Given the description of an element on the screen output the (x, y) to click on. 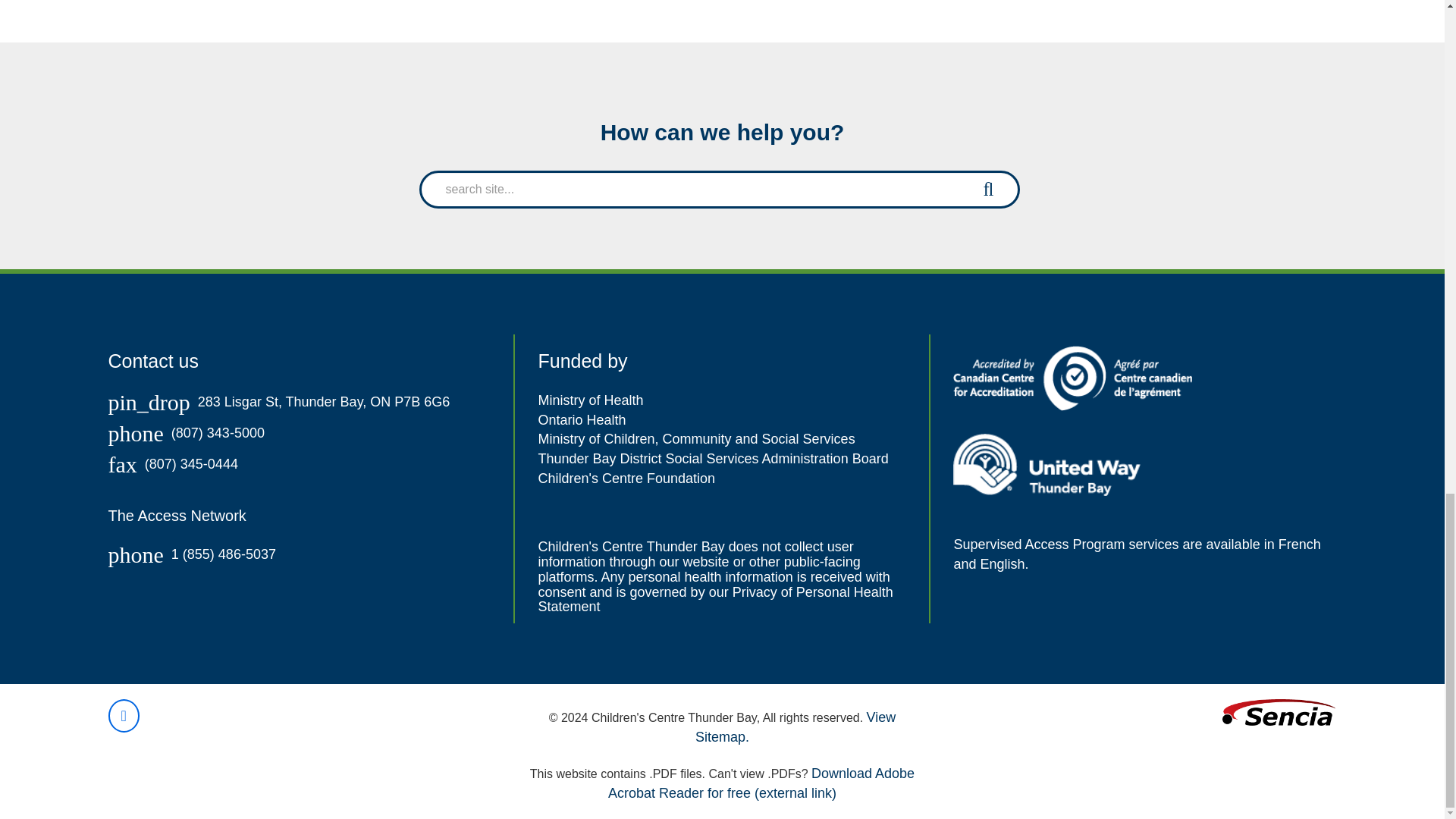
Ministry of Health (590, 400)
Ontario Health (581, 419)
View Sitemap. (795, 727)
Children's Centre Foundation (625, 478)
Thunder Bay District Social Services Administration Board (712, 458)
Ministry of Children, Community and Social Services (695, 438)
Search (988, 189)
